Given the description of an element on the screen output the (x, y) to click on. 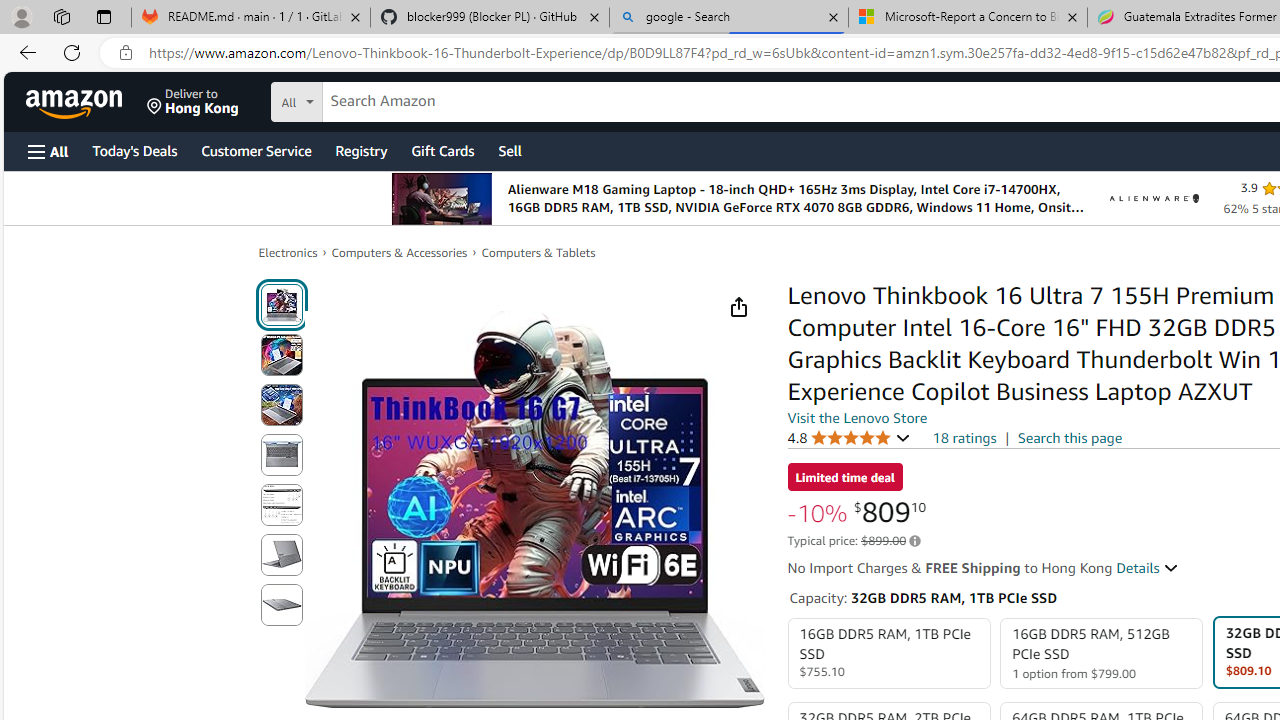
18 ratings (964, 438)
Share (738, 307)
Sell (509, 150)
Visit the Lenovo Store (857, 417)
4.8 4.8 out of 5 stars (849, 437)
Amazon (76, 101)
Search in (371, 99)
16GB DDR5 RAM, 1TB PCIe SSD $755.10 (888, 653)
Computers & Tablets (538, 252)
Today's Deals (134, 150)
Open Menu (48, 151)
